Given the description of an element on the screen output the (x, y) to click on. 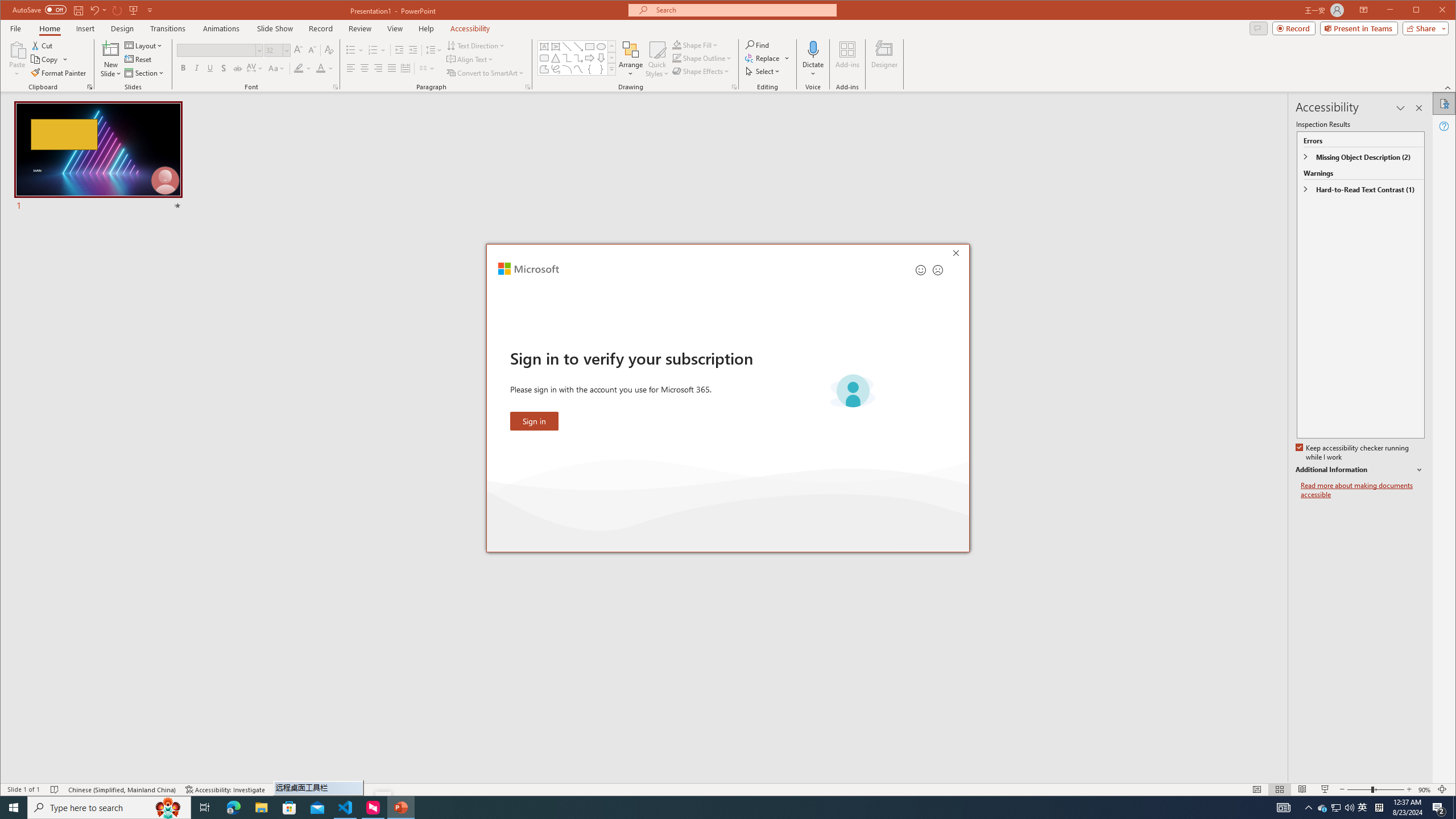
Sign in (534, 420)
